Given the description of an element on the screen output the (x, y) to click on. 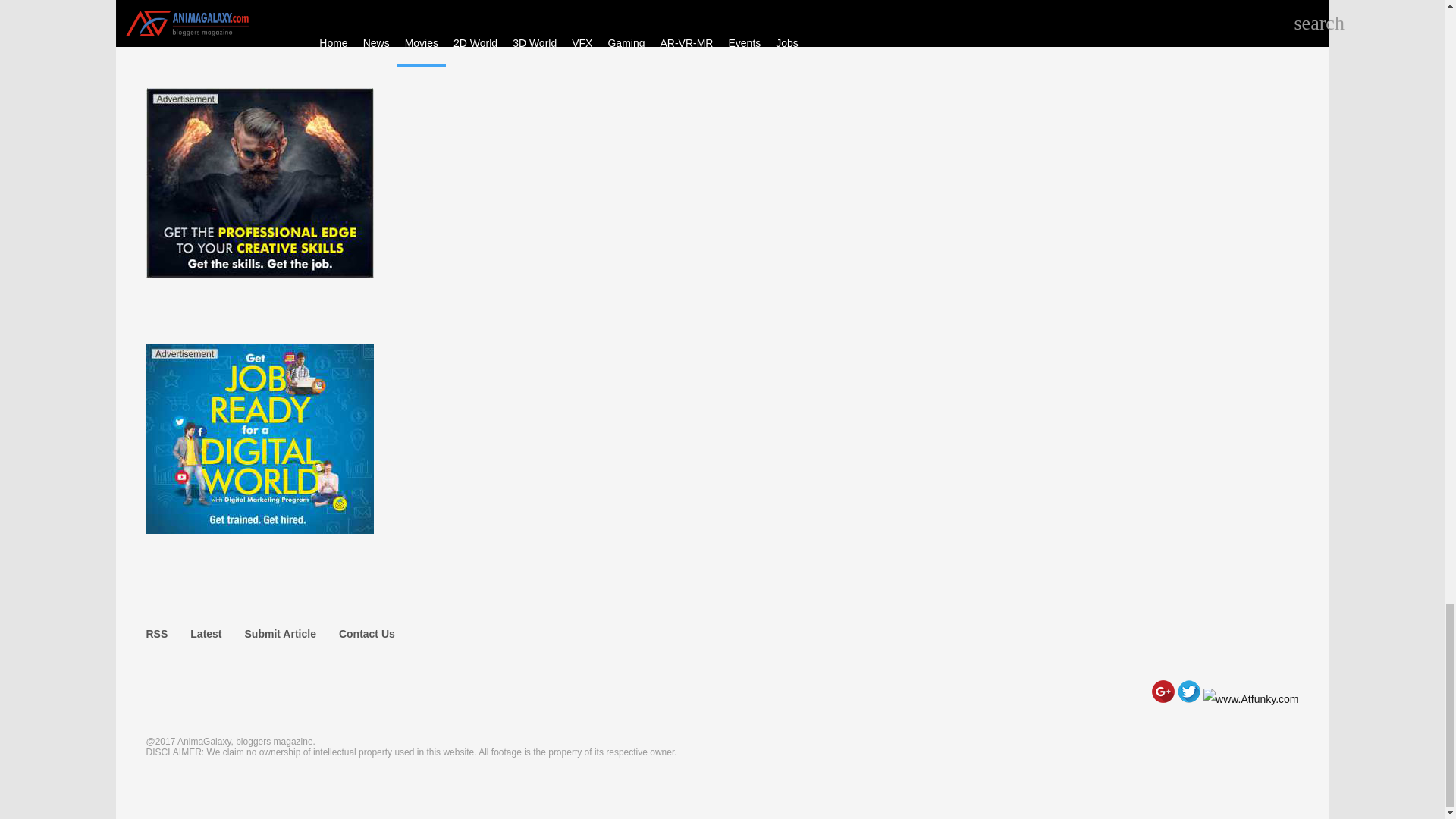
Banner home2 (258, 530)
www.Atfunky.com (1251, 699)
Banner home1 (258, 274)
